Given the description of an element on the screen output the (x, y) to click on. 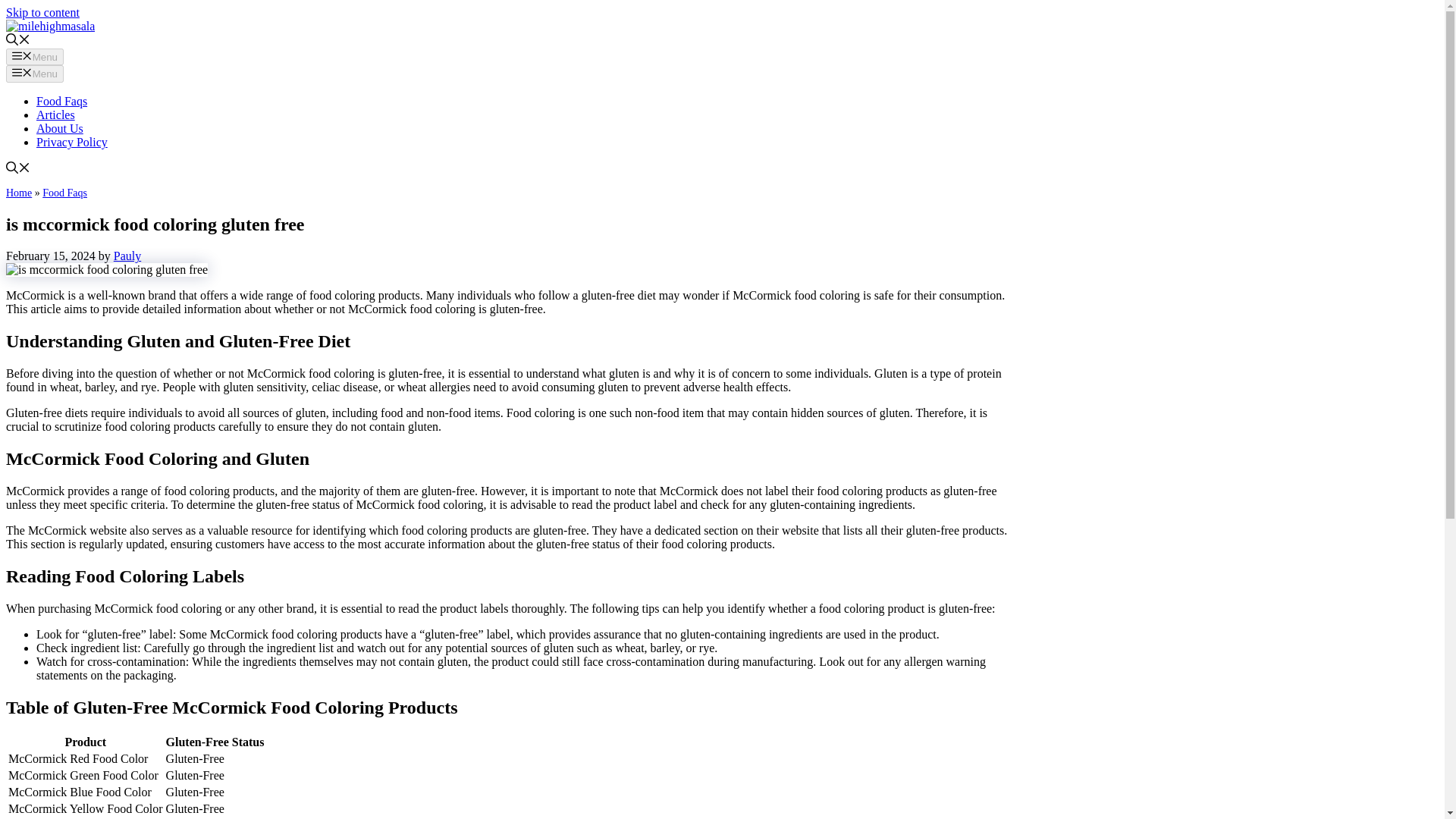
Privacy Policy (71, 141)
Articles (55, 114)
Food Faqs (61, 101)
Pauly (127, 255)
About Us (59, 128)
Skip to content (42, 11)
View all posts by Pauly (127, 255)
Menu (34, 56)
is mccormick food coloring gluten free 1 (106, 269)
Food Faqs (64, 193)
